Given the description of an element on the screen output the (x, y) to click on. 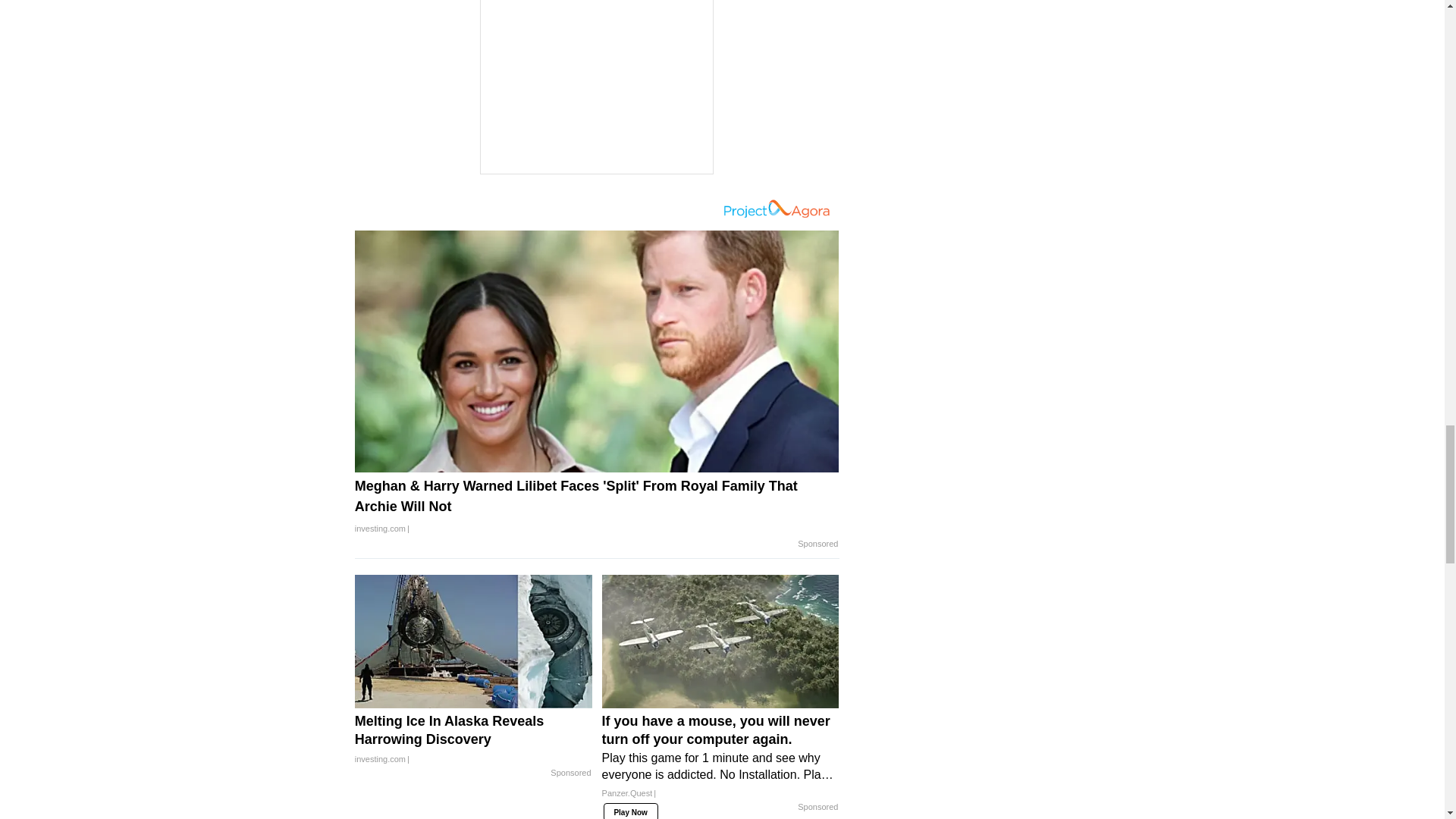
Melting Ice In Alaska Reveals Harrowing Discovery (473, 739)
